Given the description of an element on the screen output the (x, y) to click on. 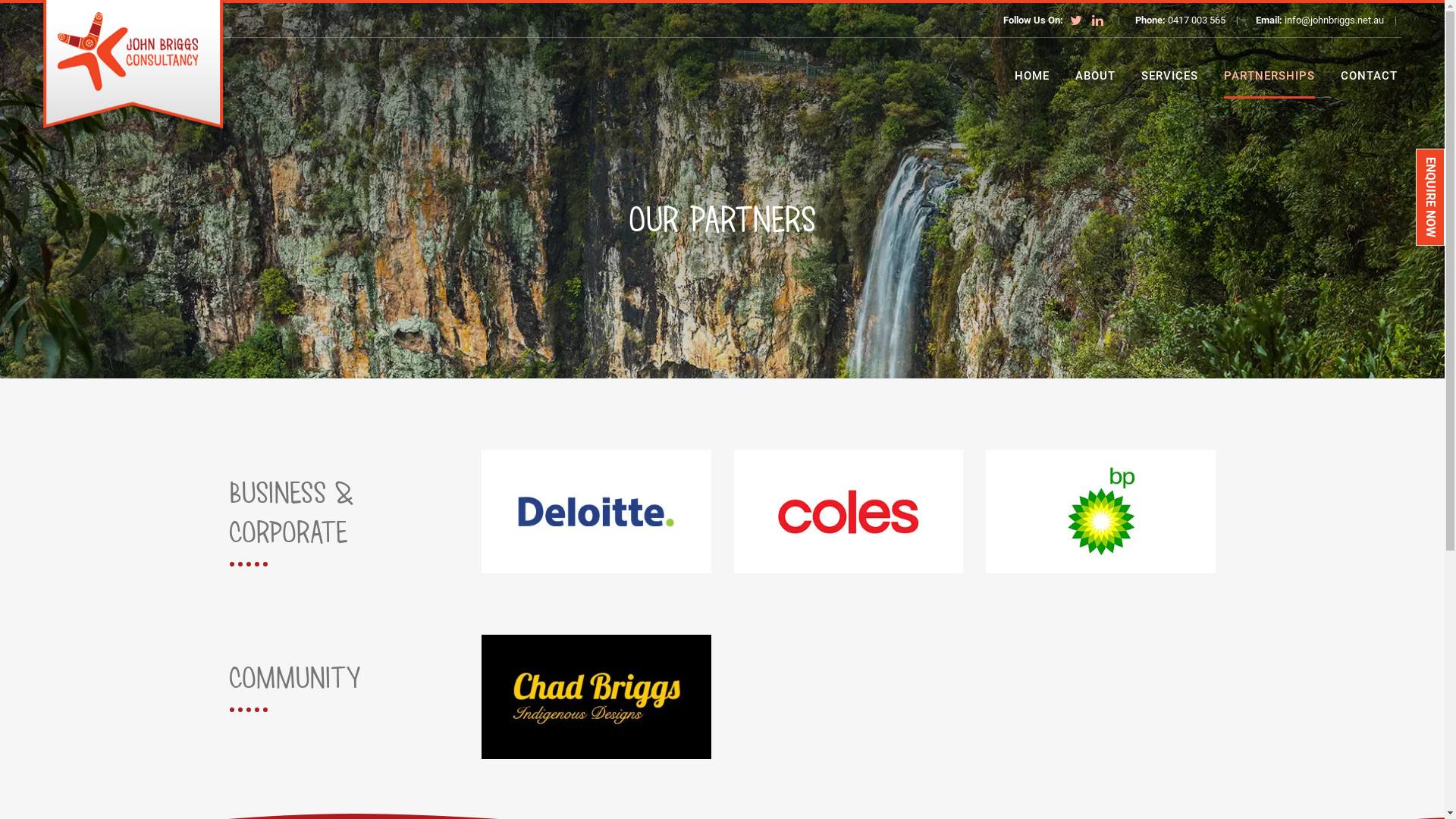
SERVICES Element type: text (1169, 75)
HOME Element type: text (1031, 75)
info@johnbriggs.net.au Element type: text (1333, 19)
0417 003 565 Element type: text (1196, 19)
PARTNERSHIPS Element type: text (1269, 75)
CONTACT Element type: text (1368, 75)
ABOUT Element type: text (1095, 75)
